Given the description of an element on the screen output the (x, y) to click on. 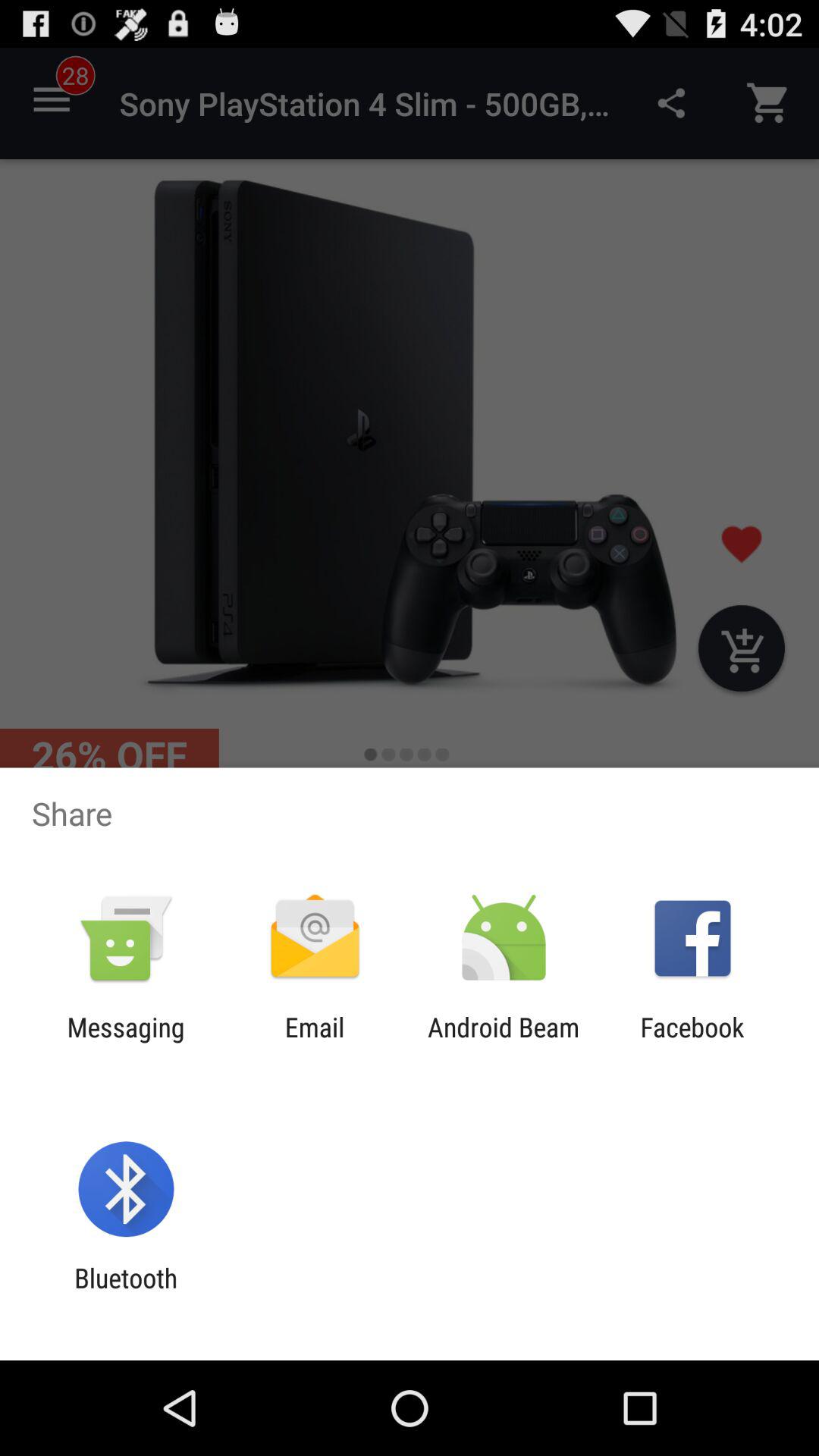
press the icon next to email (125, 1042)
